Given the description of an element on the screen output the (x, y) to click on. 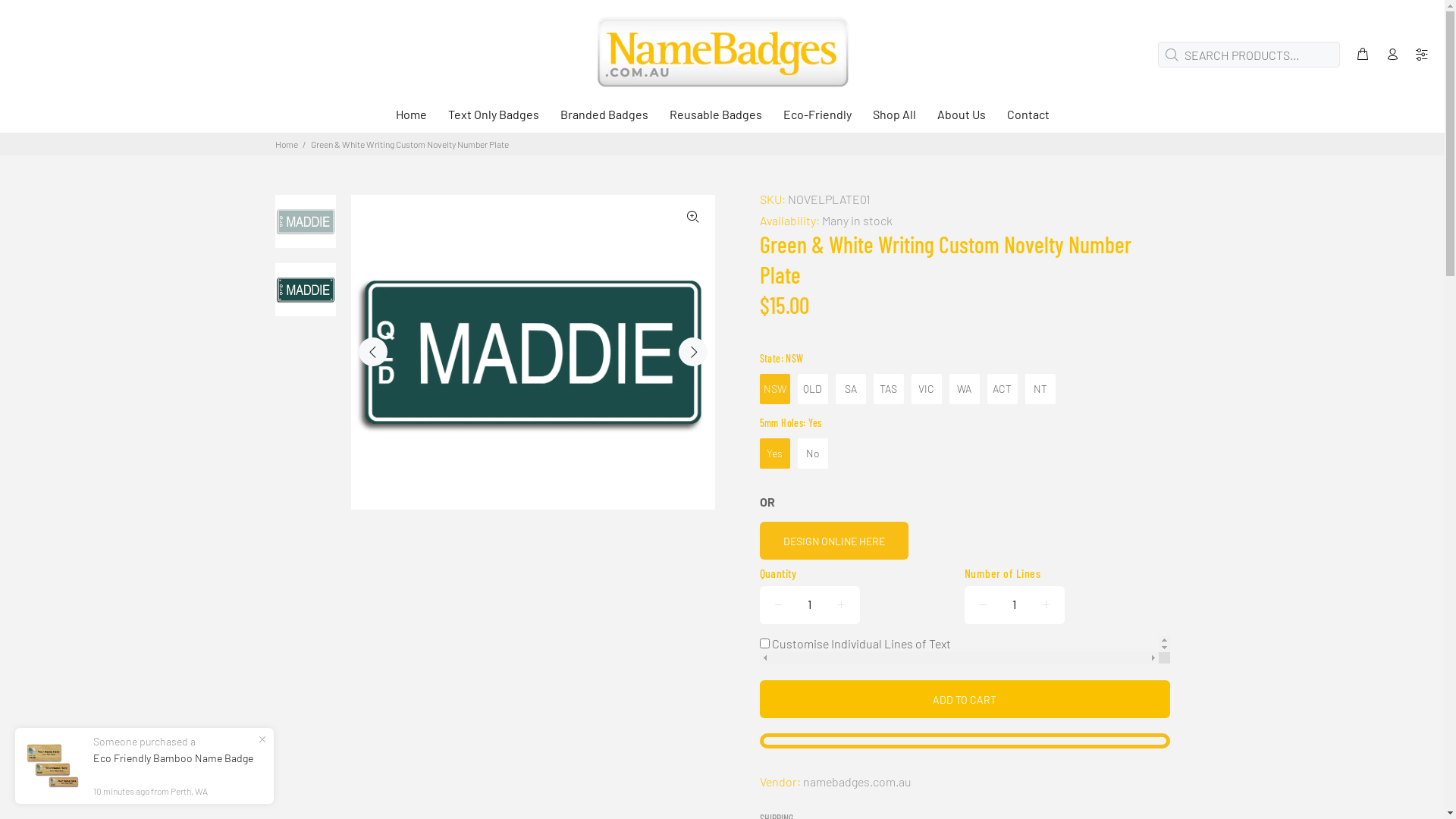
TAS Element type: text (888, 388)
Eco-Friendly Element type: text (816, 116)
Text Only Badges Element type: text (492, 116)
WA Element type: text (964, 388)
About Us Element type: text (961, 116)
VIC Element type: text (926, 388)
Branded Badges Element type: text (603, 116)
Home Element type: text (411, 116)
NT Element type: text (1040, 388)
QLD Element type: text (812, 388)
namebadges.com.au Element type: text (856, 781)
Eco Friendly Bamboo Name Badge Element type: text (173, 757)
ACT Element type: text (1002, 388)
DESIGN ONLINE HERE Element type: text (833, 540)
Next Element type: text (691, 351)
Home Element type: text (285, 143)
No Element type: text (812, 453)
Contact Element type: text (1022, 116)
ADD TO CART Element type: text (964, 699)
Previous Element type: text (372, 351)
NSW Element type: text (774, 388)
Shop All Element type: text (893, 116)
SA Element type: text (850, 388)
Reusable Badges Element type: text (714, 116)
Yes Element type: text (774, 453)
